Given the description of an element on the screen output the (x, y) to click on. 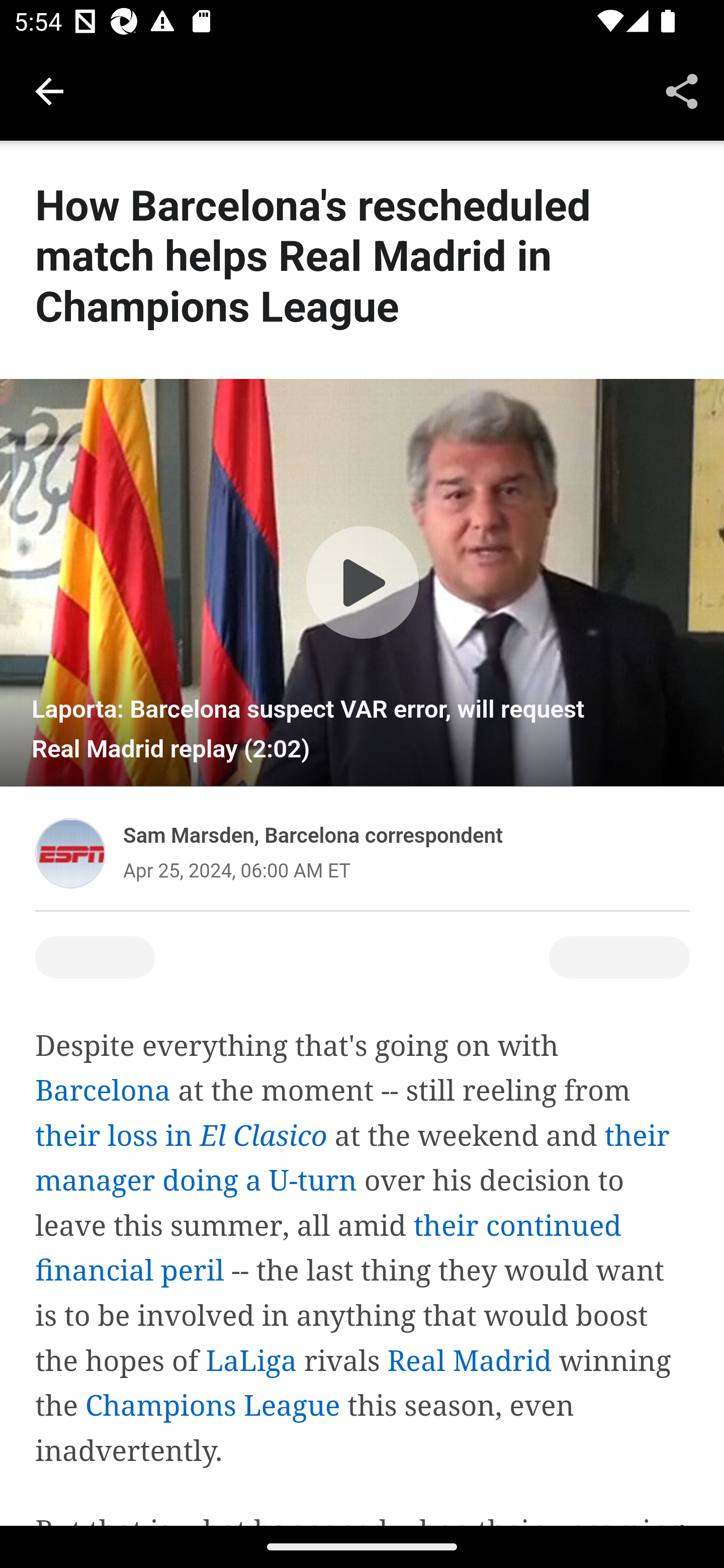
Navigate up (49, 91)
Share (681, 90)
